Given the description of an element on the screen output the (x, y) to click on. 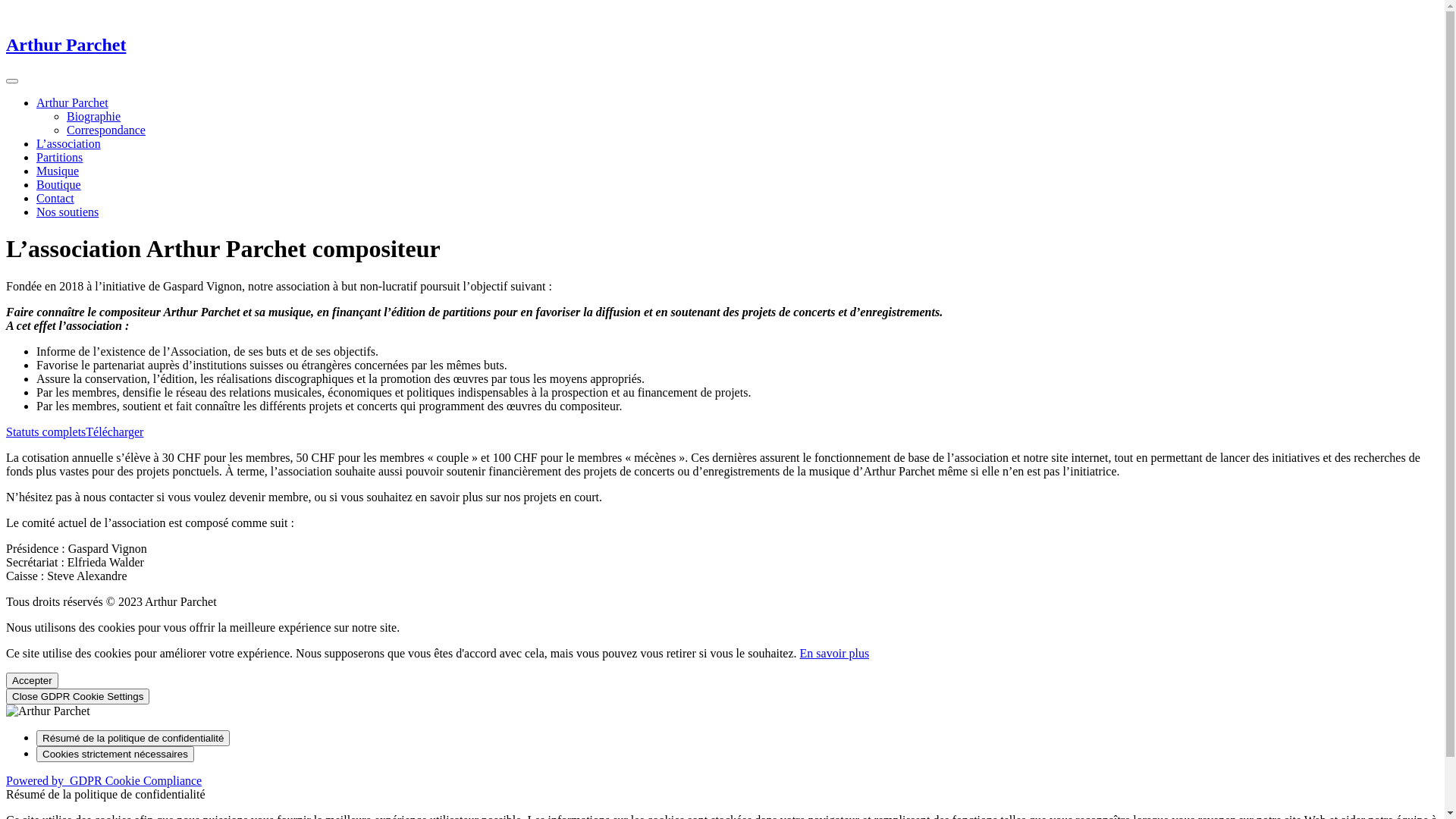
Nos soutiens Element type: text (67, 211)
Correspondance Element type: text (105, 129)
Biographie Element type: text (93, 115)
En savoir plus Element type: text (834, 652)
Accepter Element type: text (32, 680)
Contact Element type: text (55, 197)
Close GDPR Cookie Settings Element type: text (77, 696)
Arthur Parchet Element type: text (72, 102)
Musique Element type: text (57, 170)
Arthur Parchet Element type: text (65, 44)
Powered by  GDPR Cookie Compliance Element type: text (103, 780)
Partitions Element type: text (59, 156)
Boutique Element type: text (58, 184)
Statuts complets Element type: text (45, 431)
